Given the description of an element on the screen output the (x, y) to click on. 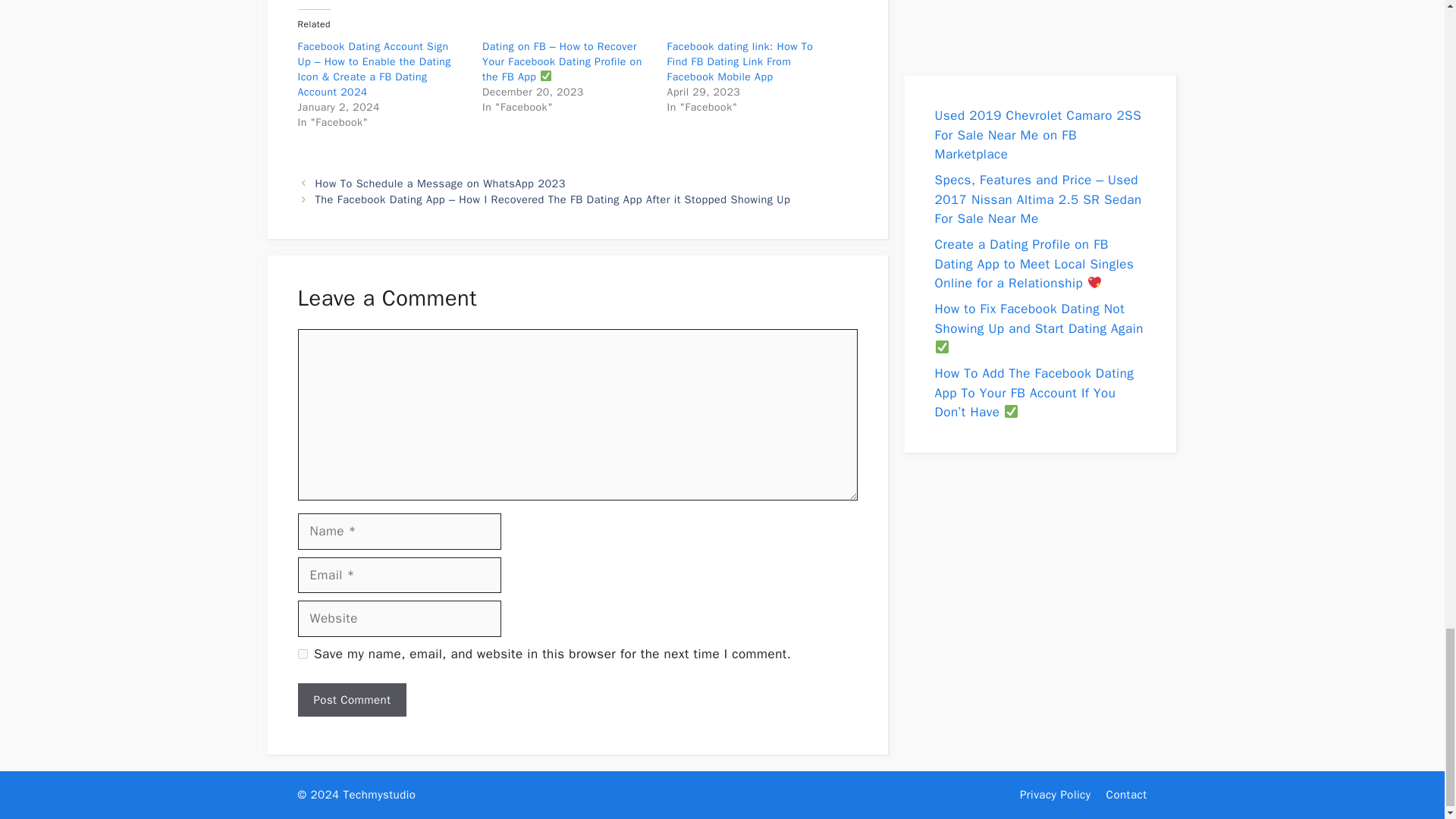
Post Comment (351, 700)
Post Comment (351, 700)
yes (302, 654)
How To Schedule a Message on WhatsApp 2023 (440, 183)
